Given the description of an element on the screen output the (x, y) to click on. 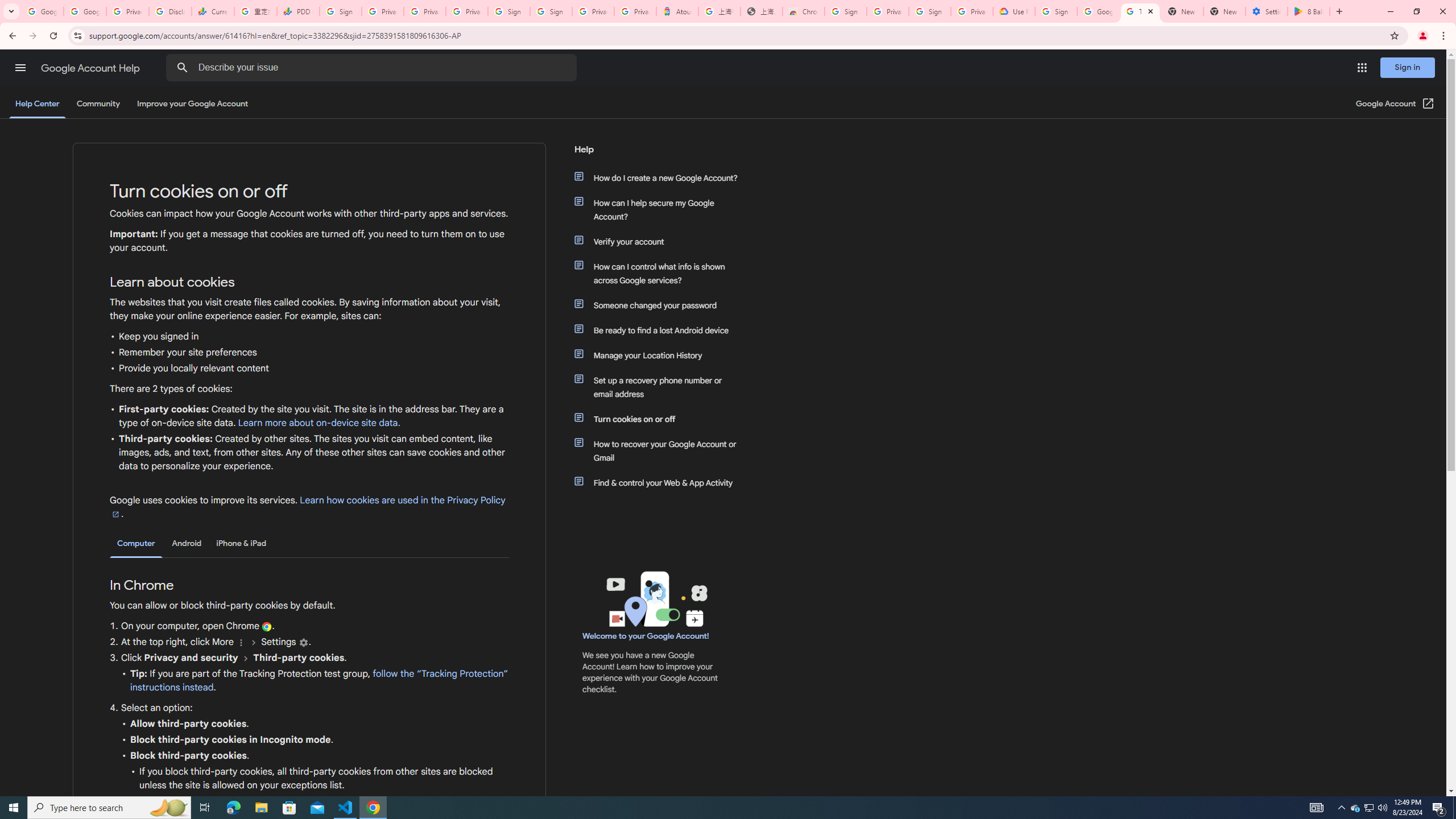
Improve your Google Account (192, 103)
Google Account (Open in a new window) (1395, 103)
Chrome Web Store - Color themes by Chrome (803, 11)
Be ready to find a lost Android device (661, 330)
Learn how cookies are used in the Privacy Policy (307, 507)
Google Account Help (91, 68)
How can I control what info is shown across Google services? (661, 273)
Privacy Checkup (424, 11)
